Given the description of an element on the screen output the (x, y) to click on. 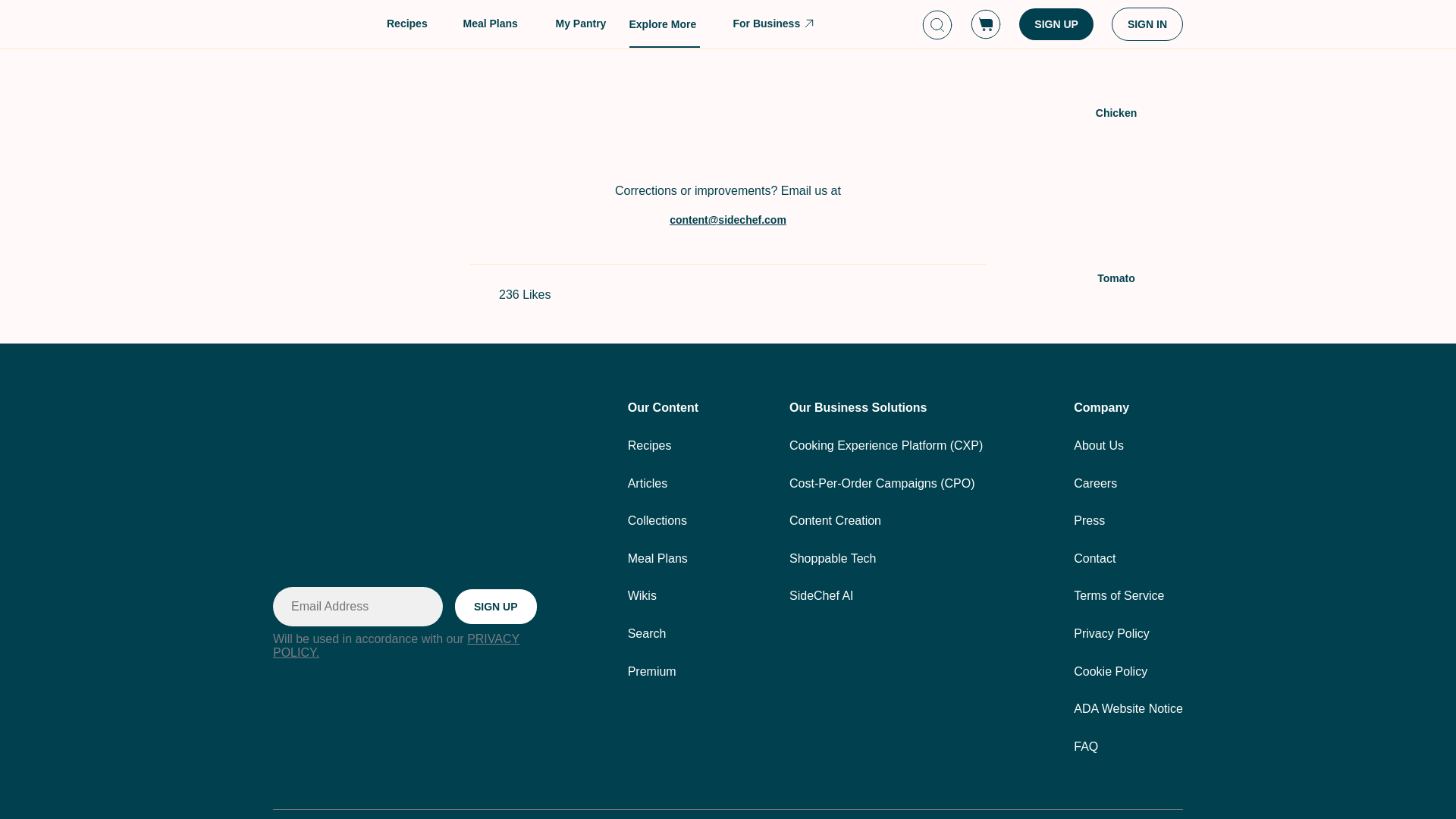
SIGN UP (495, 606)
